Given the description of an element on the screen output the (x, y) to click on. 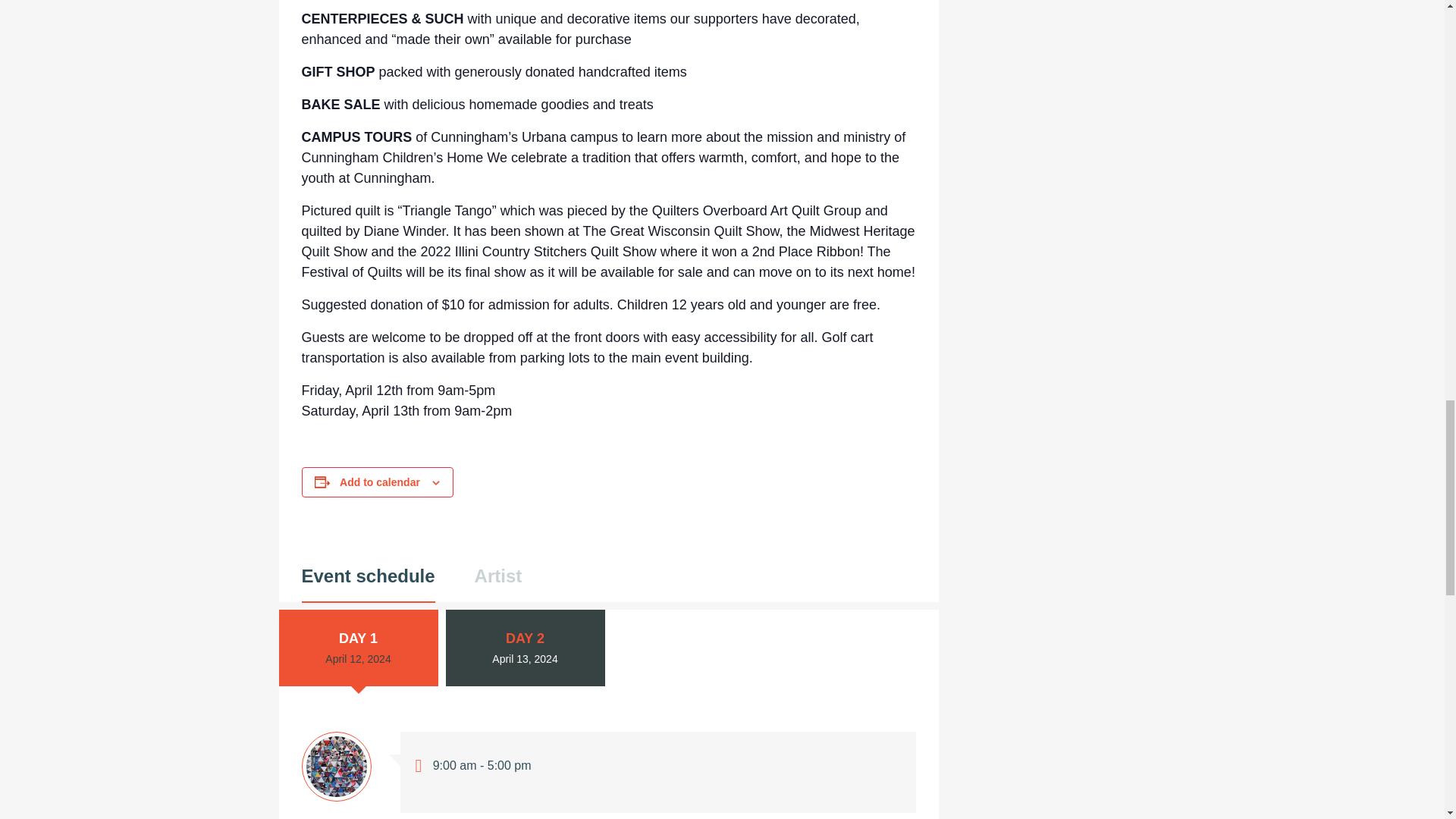
Event schedule (368, 584)
Artist (498, 584)
Add to calendar (379, 481)
